Given the description of an element on the screen output the (x, y) to click on. 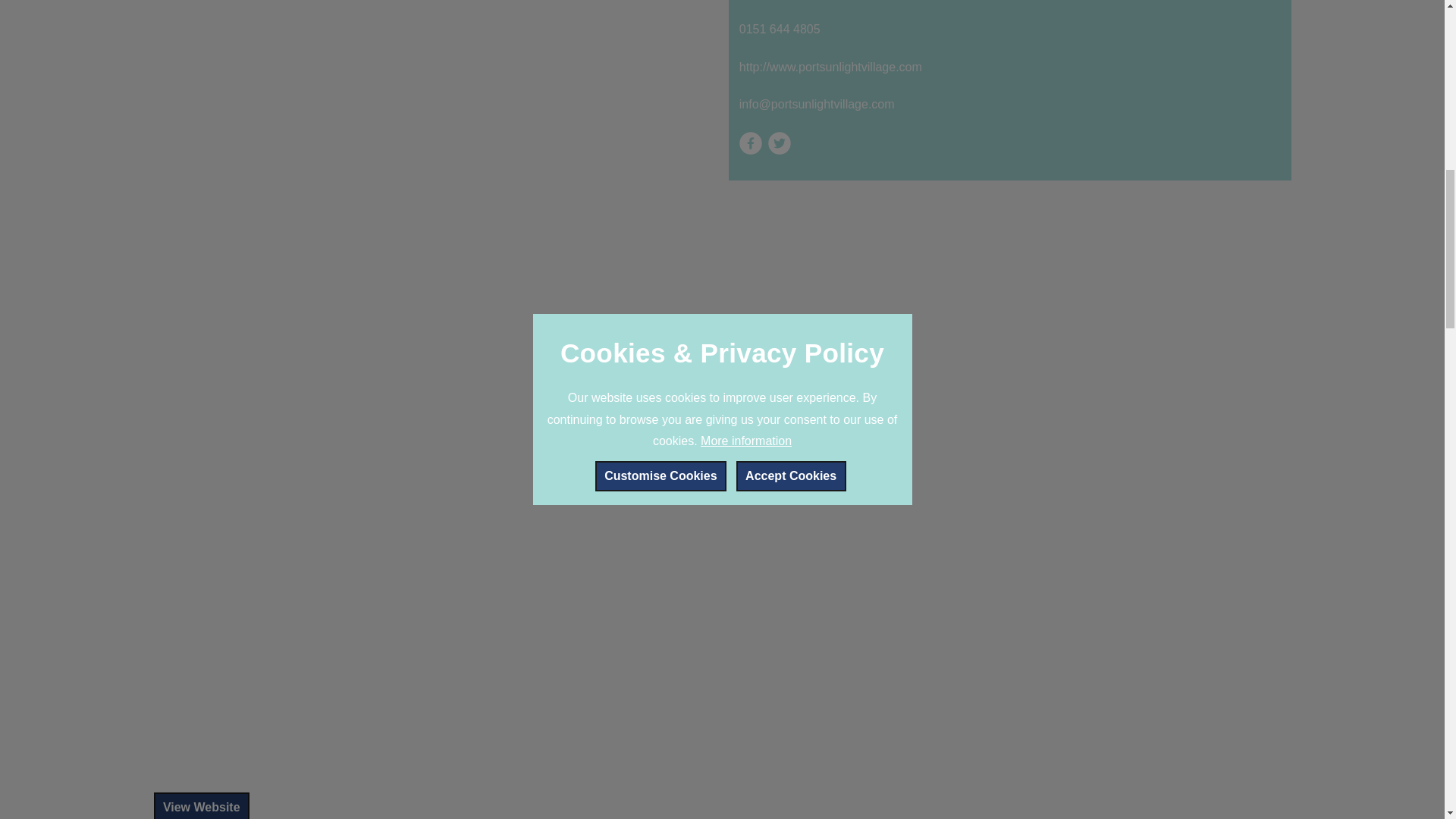
View Website (200, 805)
0151 644 4805 (1010, 29)
